Given the description of an element on the screen output the (x, y) to click on. 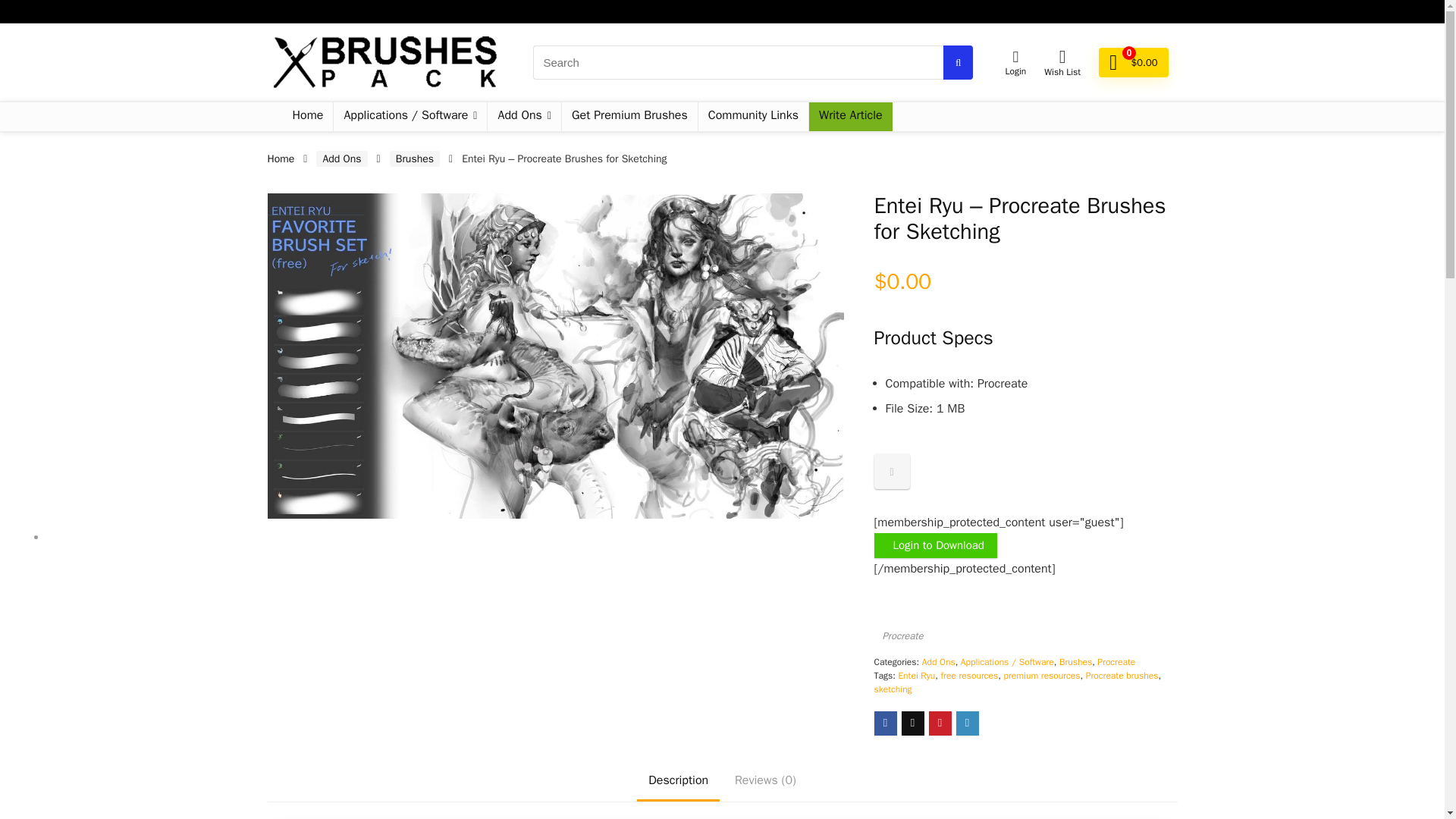
Home (307, 116)
Add Ons (523, 116)
